Given the description of an element on the screen output the (x, y) to click on. 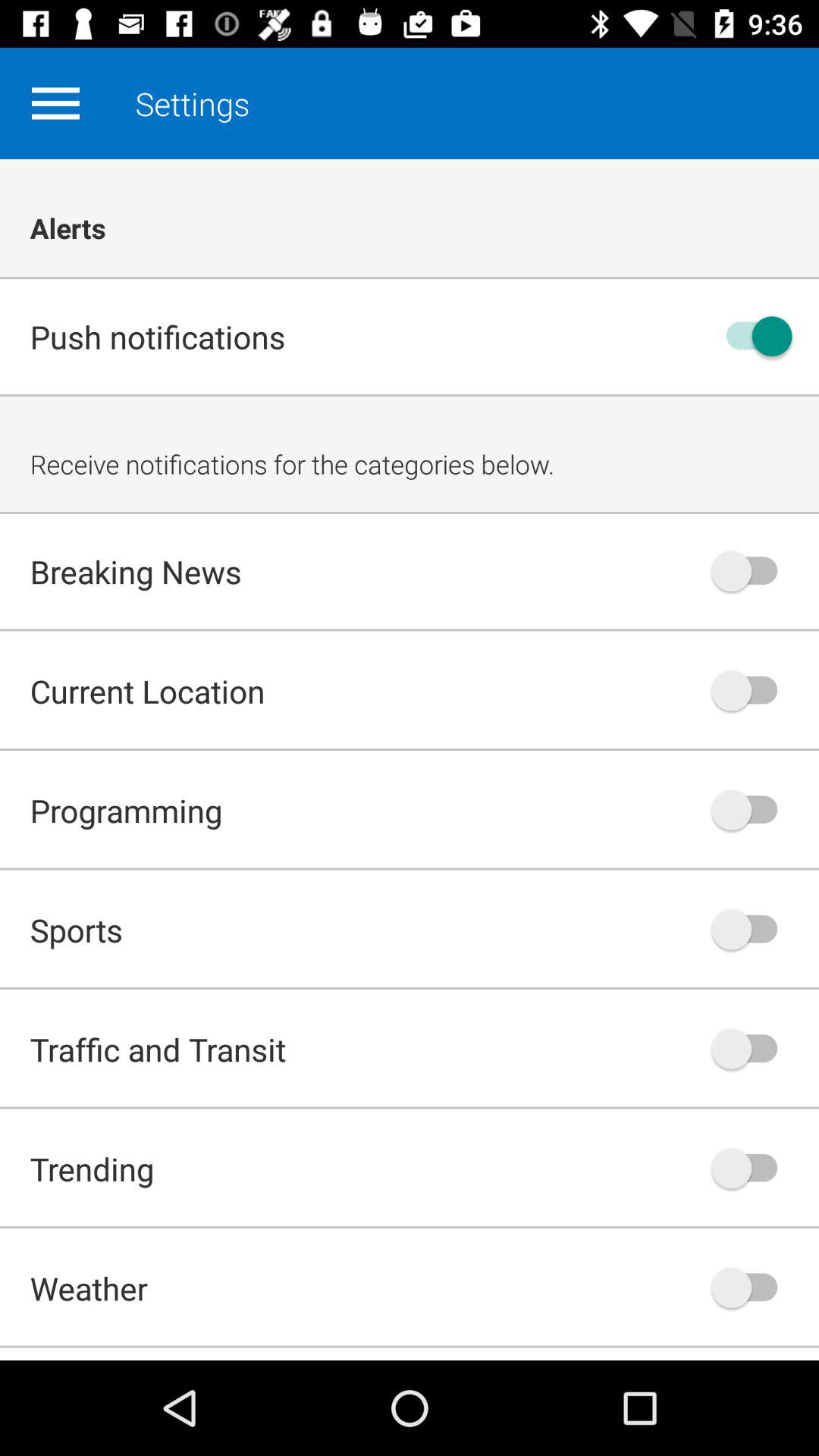
settings (55, 103)
